Given the description of an element on the screen output the (x, y) to click on. 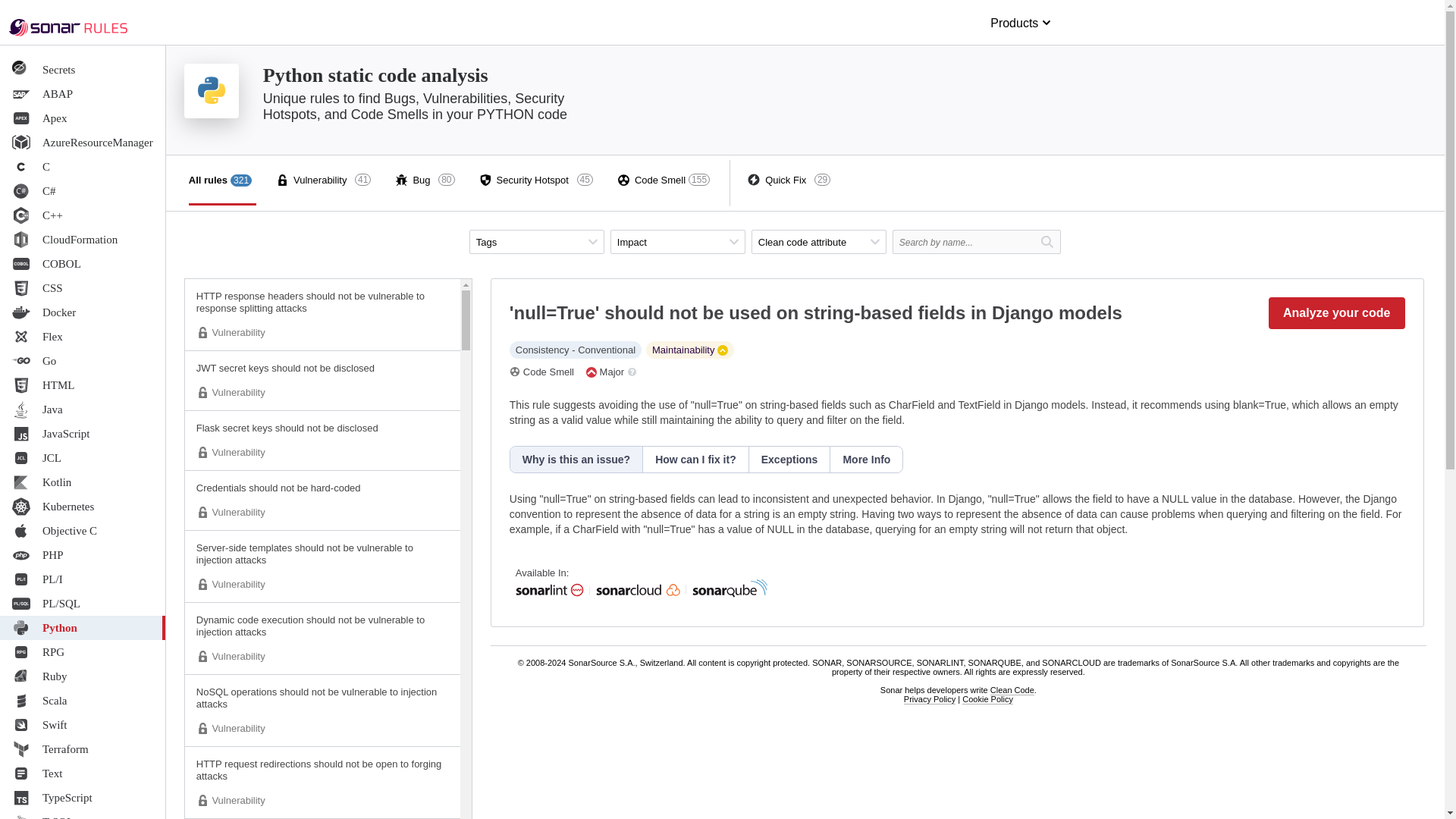
Java (82, 409)
Go (82, 360)
C (82, 166)
Terraform (322, 179)
Kubernetes (82, 749)
Apex (82, 506)
Ruby (82, 118)
JavaScript (82, 676)
Flex (82, 433)
COBOL (82, 336)
Docker (82, 263)
Text (82, 312)
T-SQL (82, 773)
Scala (82, 814)
